Given the description of an element on the screen output the (x, y) to click on. 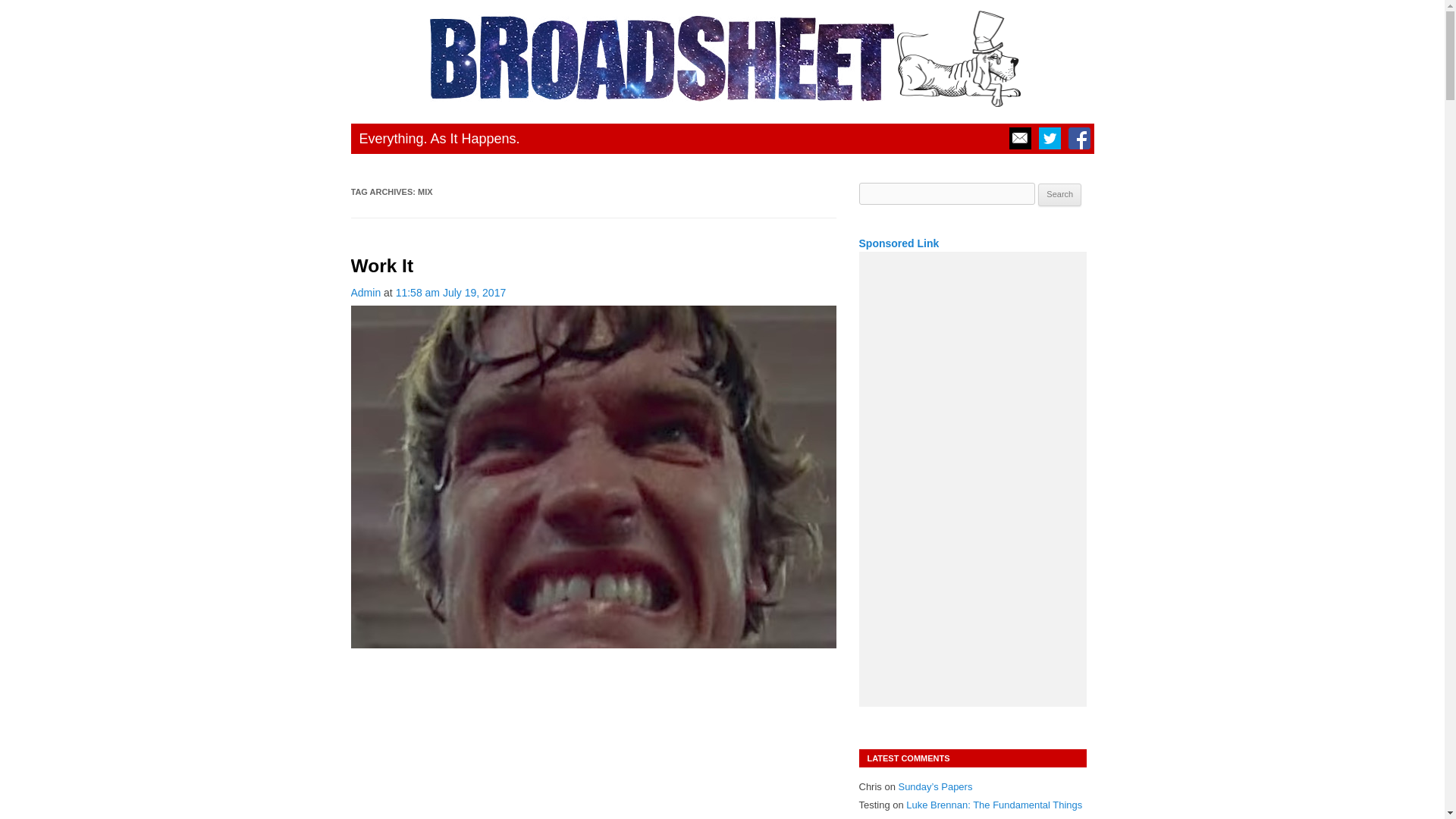
View all posts by Admin (365, 292)
11:58 am (451, 292)
Admin (365, 292)
11:58 am July 19, 2017 (451, 292)
Work It (381, 265)
